Given the description of an element on the screen output the (x, y) to click on. 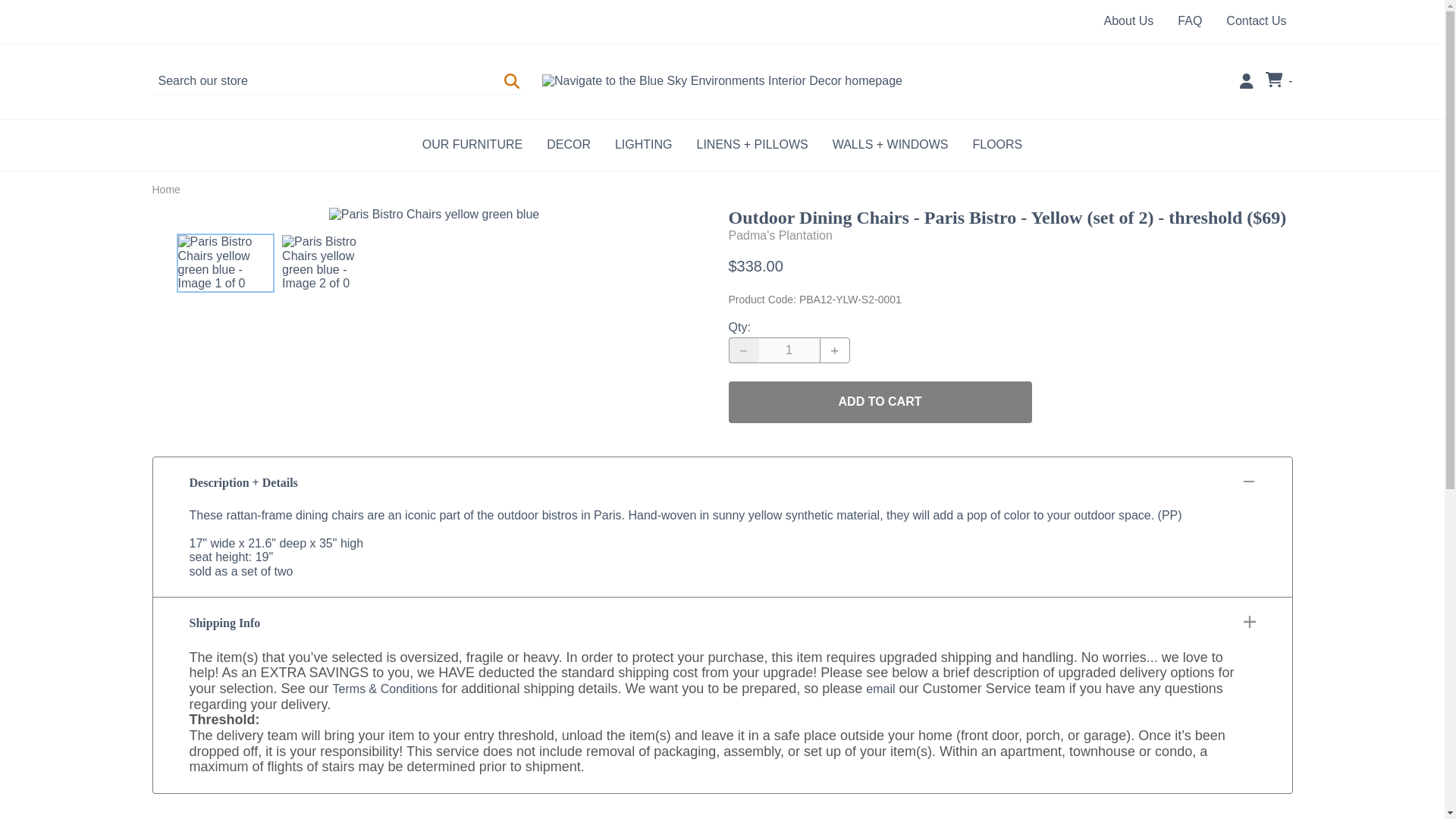
OUR FURNITURE (472, 144)
LIGHTING (643, 144)
View image 1 (225, 262)
Shipping Info (722, 623)
email (880, 688)
DECOR (568, 144)
View image 2 (329, 262)
Home (165, 189)
FLOORS (996, 144)
- (1278, 81)
Paris Bistro Chairs yellow green blue (433, 214)
1 (788, 350)
ADD TO CART (879, 401)
